Given the description of an element on the screen output the (x, y) to click on. 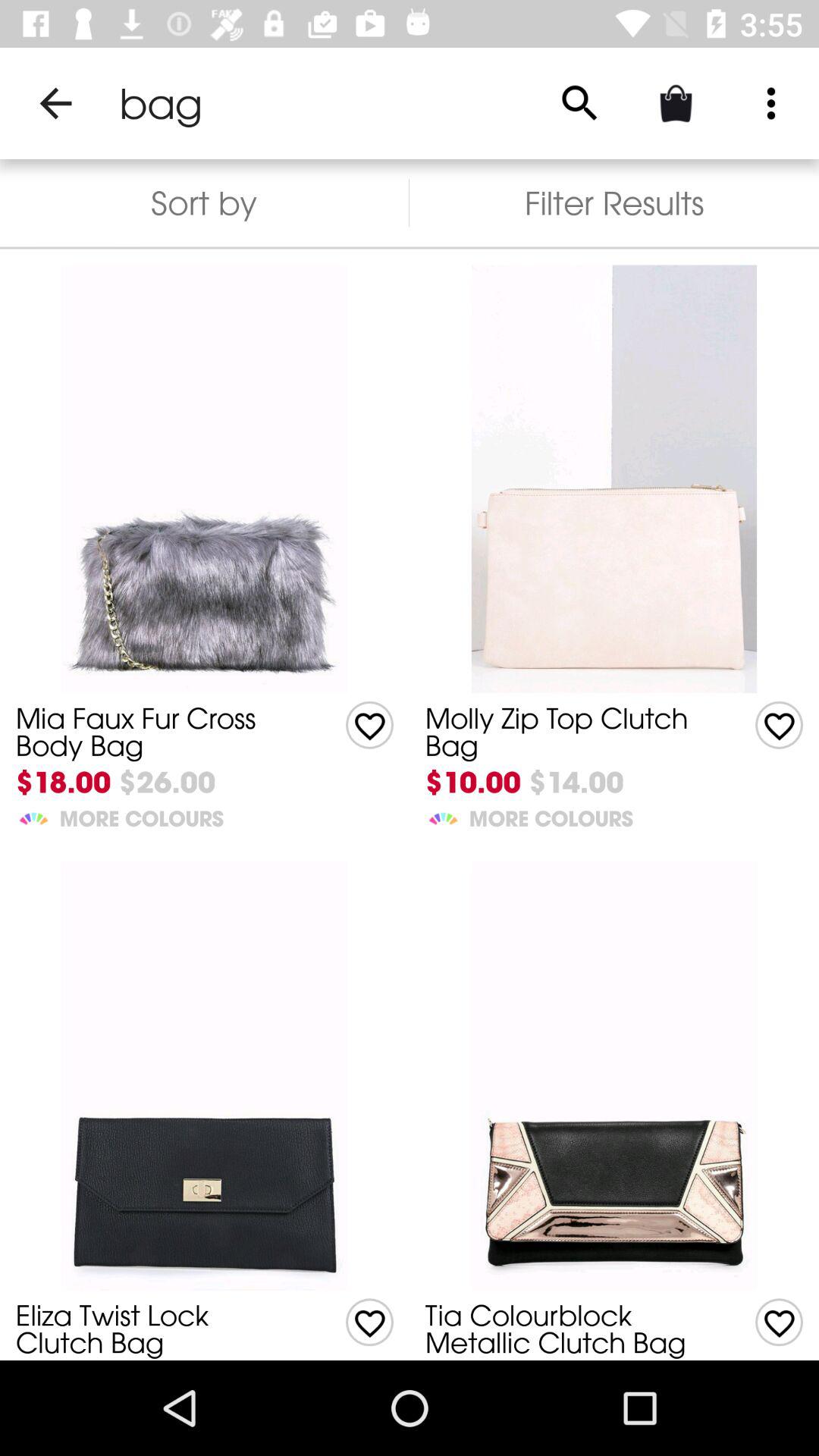
toggles a love option for the item (779, 1322)
